Given the description of an element on the screen output the (x, y) to click on. 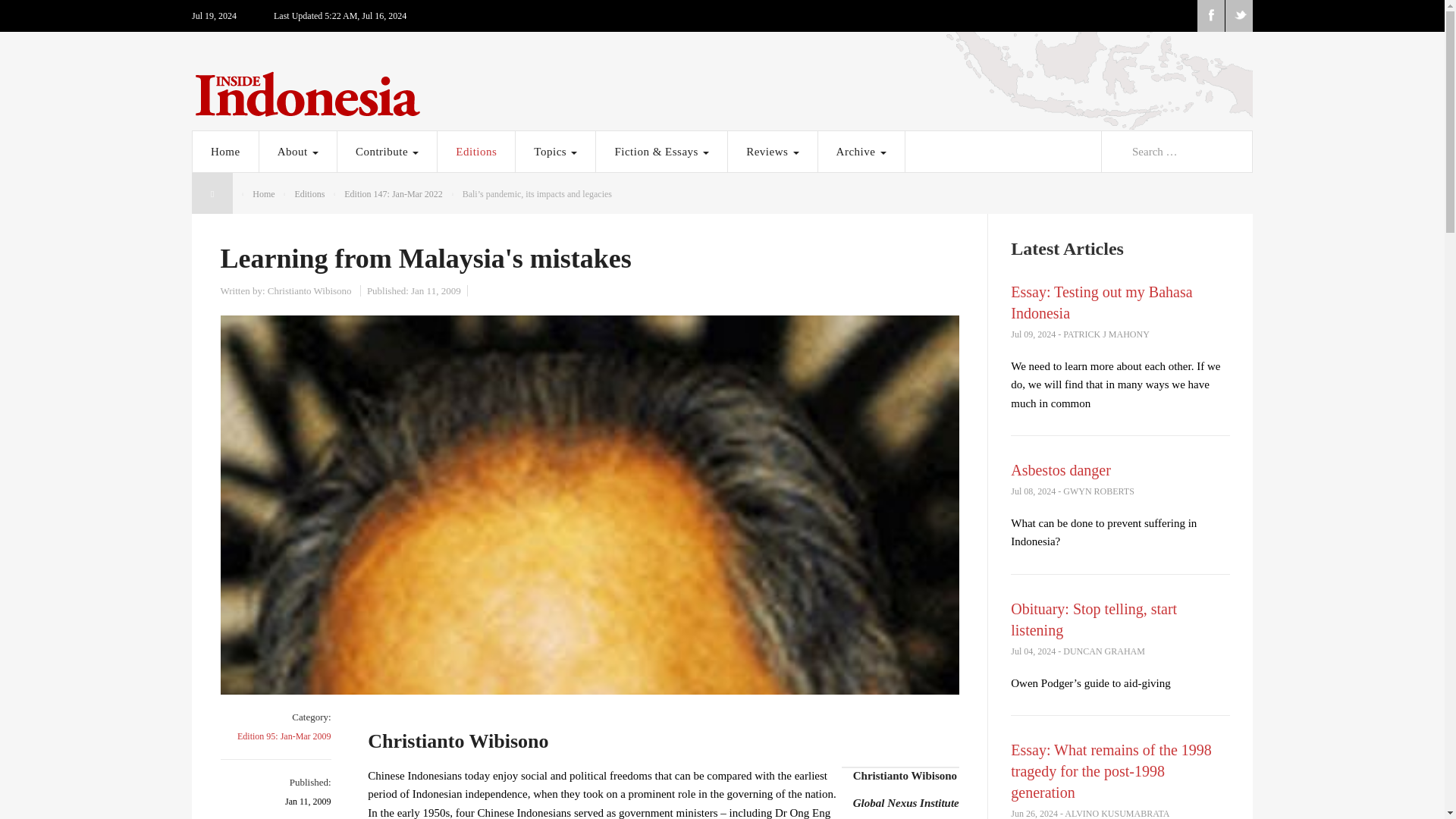
Home (225, 151)
Twitter (1238, 15)
Inside Indonesia (722, 90)
Essay: Testing out my Bahasa Indonesia (1101, 302)
Obituary: Stop telling, start listening (1093, 619)
About (297, 151)
Facebook (1210, 15)
Asbestos danger (1060, 469)
